Given the description of an element on the screen output the (x, y) to click on. 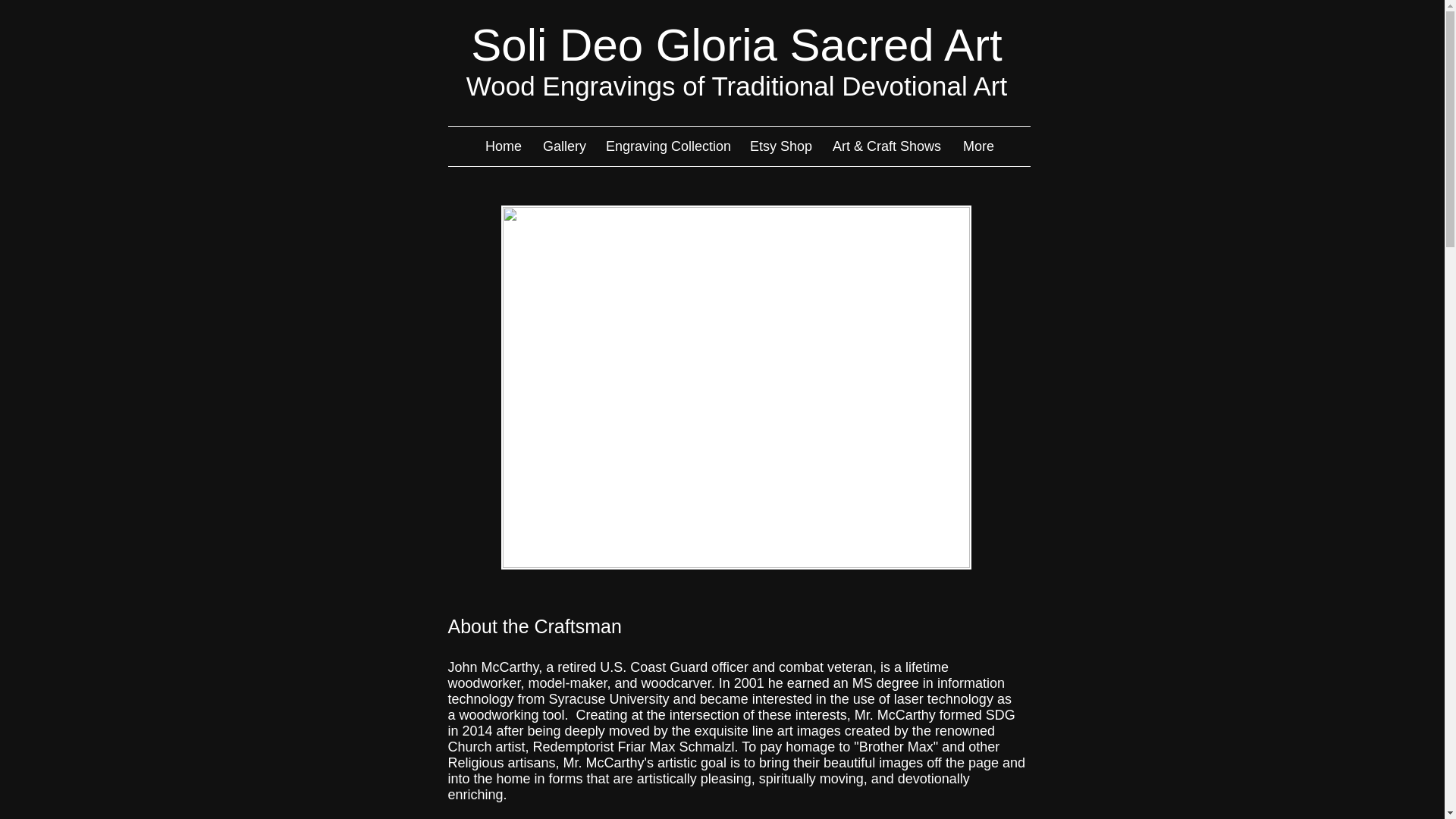
Gallery (562, 146)
Home (502, 146)
Engraving Collection (666, 146)
Etsy Shop (779, 146)
